Given the description of an element on the screen output the (x, y) to click on. 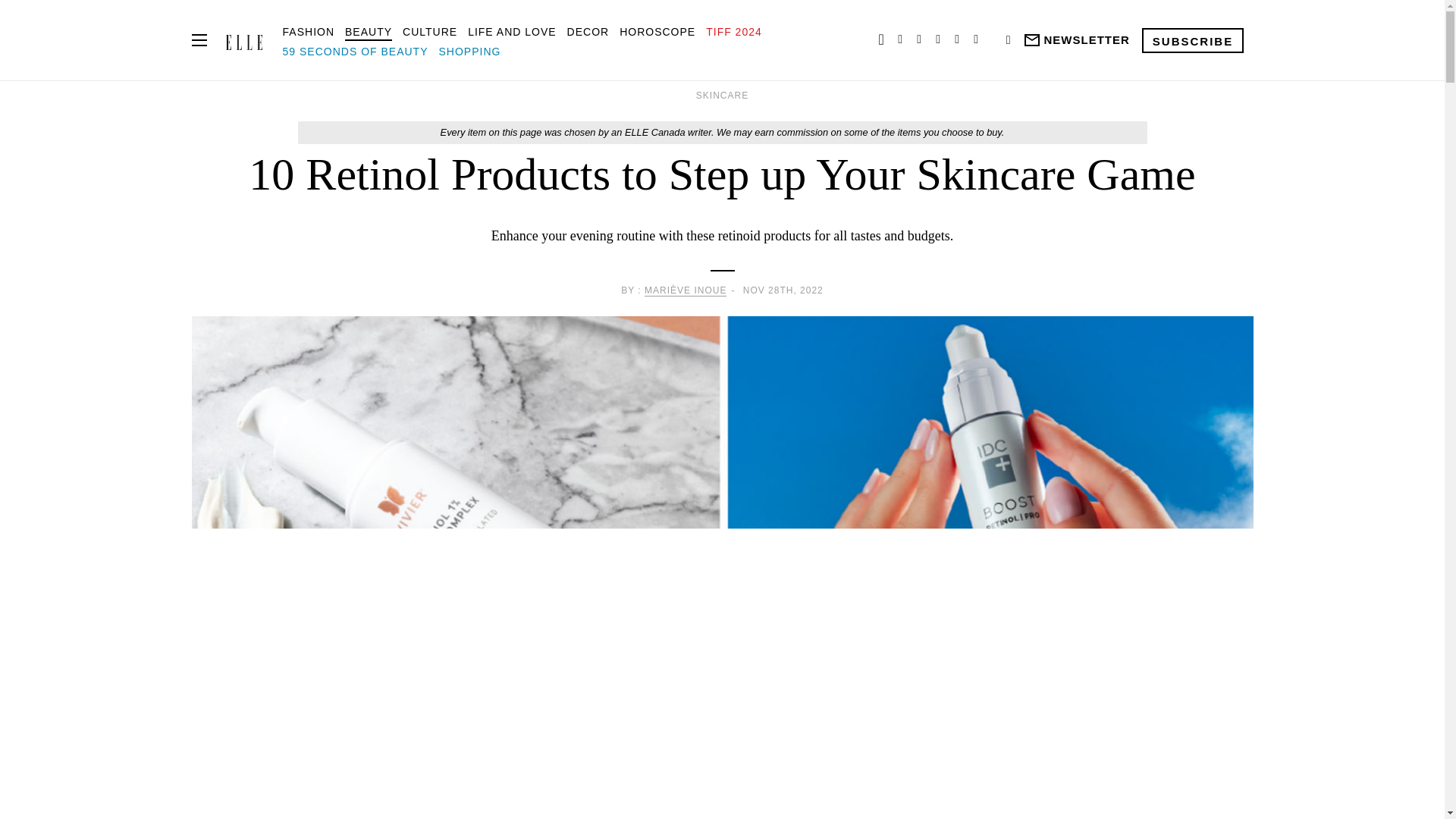
SUBSCRIBE (1192, 39)
NEWSLETTER (1075, 40)
LIFE AND LOVE (511, 31)
DECOR (588, 31)
HOROSCOPE (657, 31)
SHOPPING (469, 51)
TIFF 2024 (733, 31)
BEAUTY (368, 31)
CULTURE (430, 31)
59 SECONDS OF BEAUTY (355, 51)
